Given the description of an element on the screen output the (x, y) to click on. 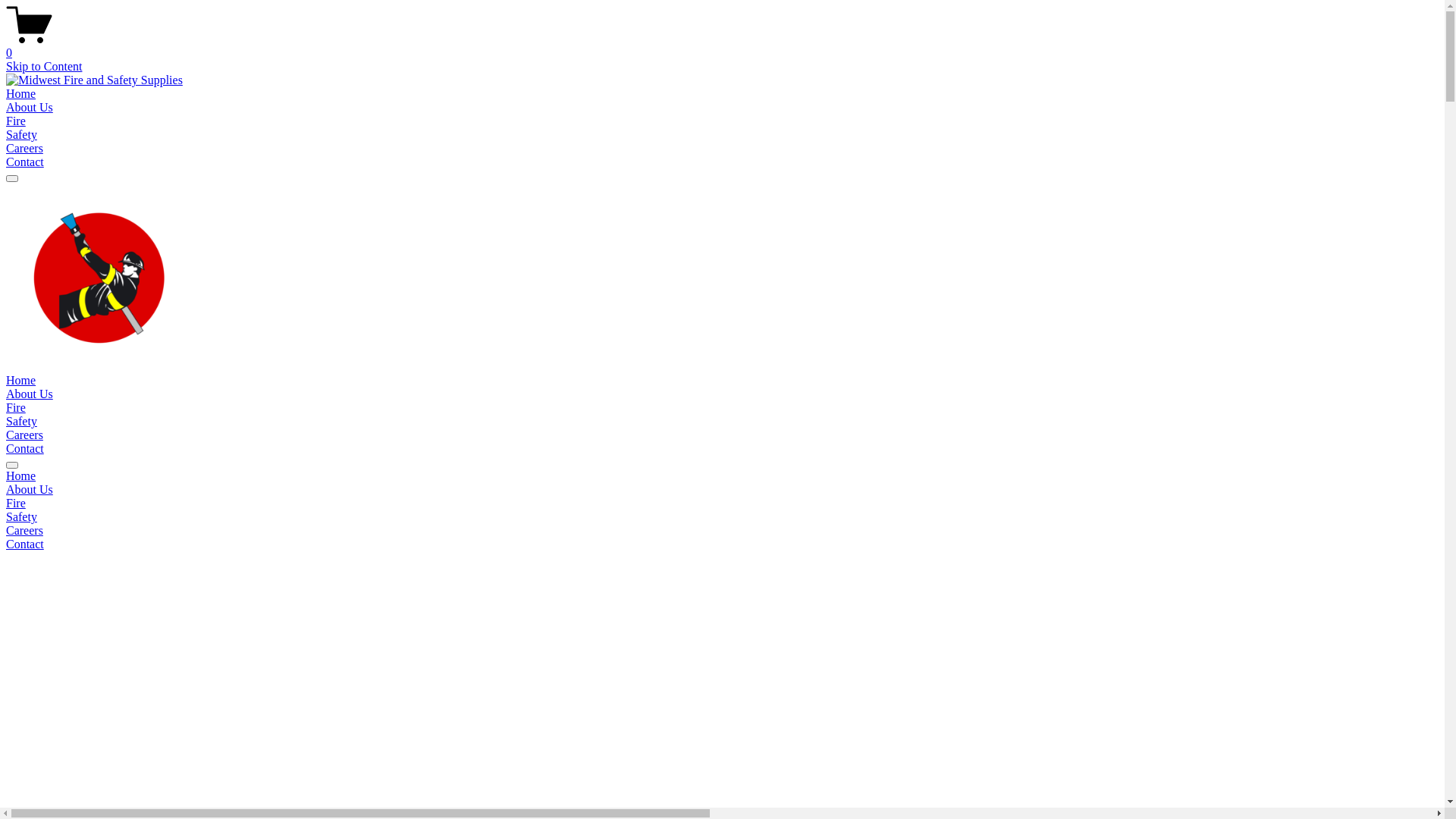
Careers Element type: text (722, 530)
Contact Element type: text (24, 448)
Fire Element type: text (722, 503)
Home Element type: text (20, 93)
Safety Element type: text (21, 134)
About Us Element type: text (722, 489)
Careers Element type: text (24, 147)
Fire Element type: text (15, 407)
Home Element type: text (722, 476)
About Us Element type: text (29, 106)
Home Element type: text (20, 379)
0 Element type: text (722, 45)
About Us Element type: text (29, 393)
Fire Element type: text (15, 120)
Safety Element type: text (21, 420)
Contact Element type: text (722, 544)
Safety Element type: text (722, 517)
Skip to Content Element type: text (43, 65)
Contact Element type: text (24, 161)
Careers Element type: text (24, 434)
